Given the description of an element on the screen output the (x, y) to click on. 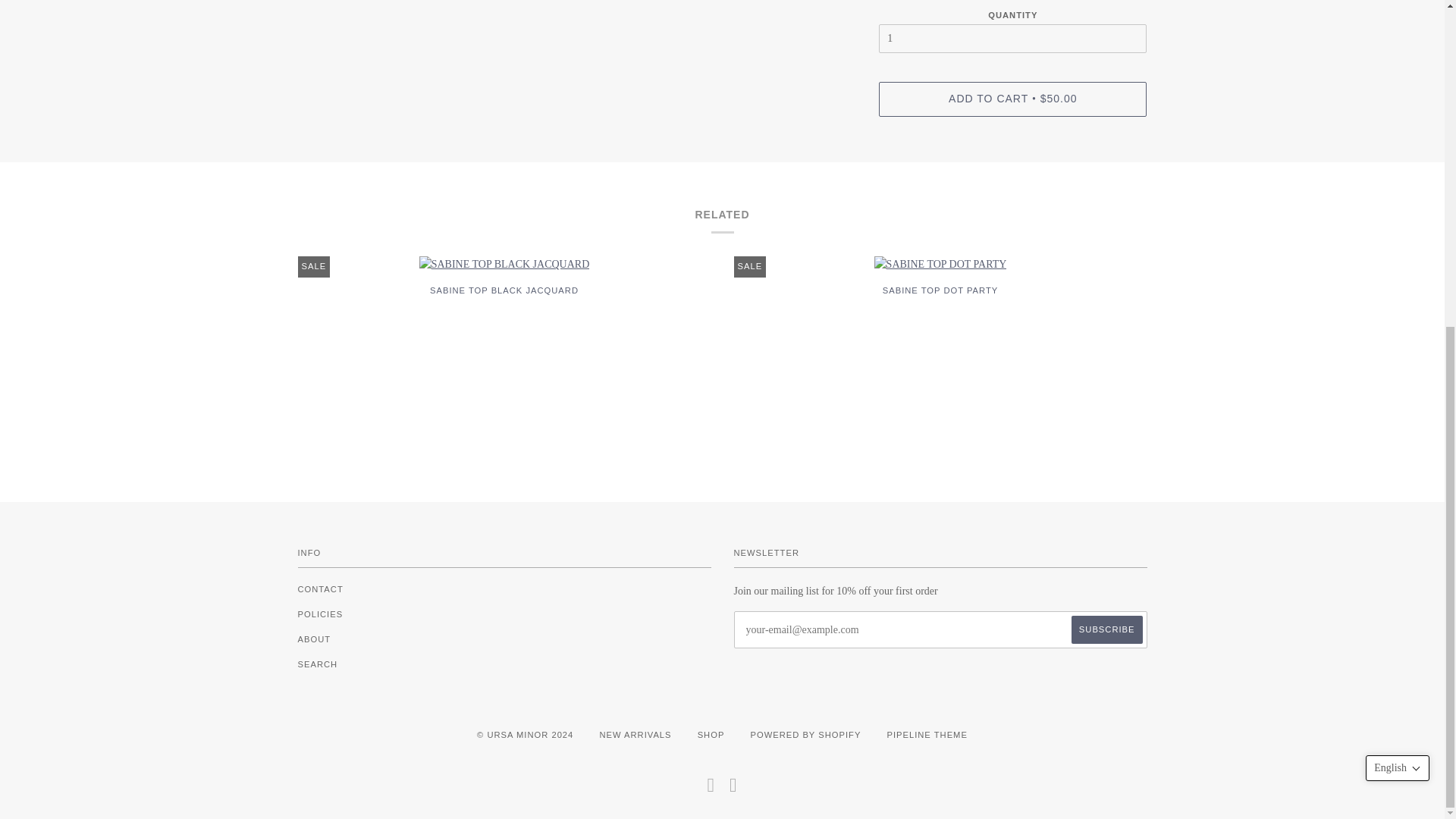
SALE (503, 264)
ABOUT (313, 638)
CONTACT (319, 588)
Ursa Minor on Instagram (733, 788)
POLICIES (319, 614)
SABINE TOP DOT PARTY (940, 302)
Subscribe (1106, 629)
SABINE TOP BLACK JACQUARD (503, 302)
SALE (940, 264)
Ursa Minor on Facebook (710, 788)
SEARCH (317, 664)
Subscribe (1106, 629)
1 (1013, 38)
